Given the description of an element on the screen output the (x, y) to click on. 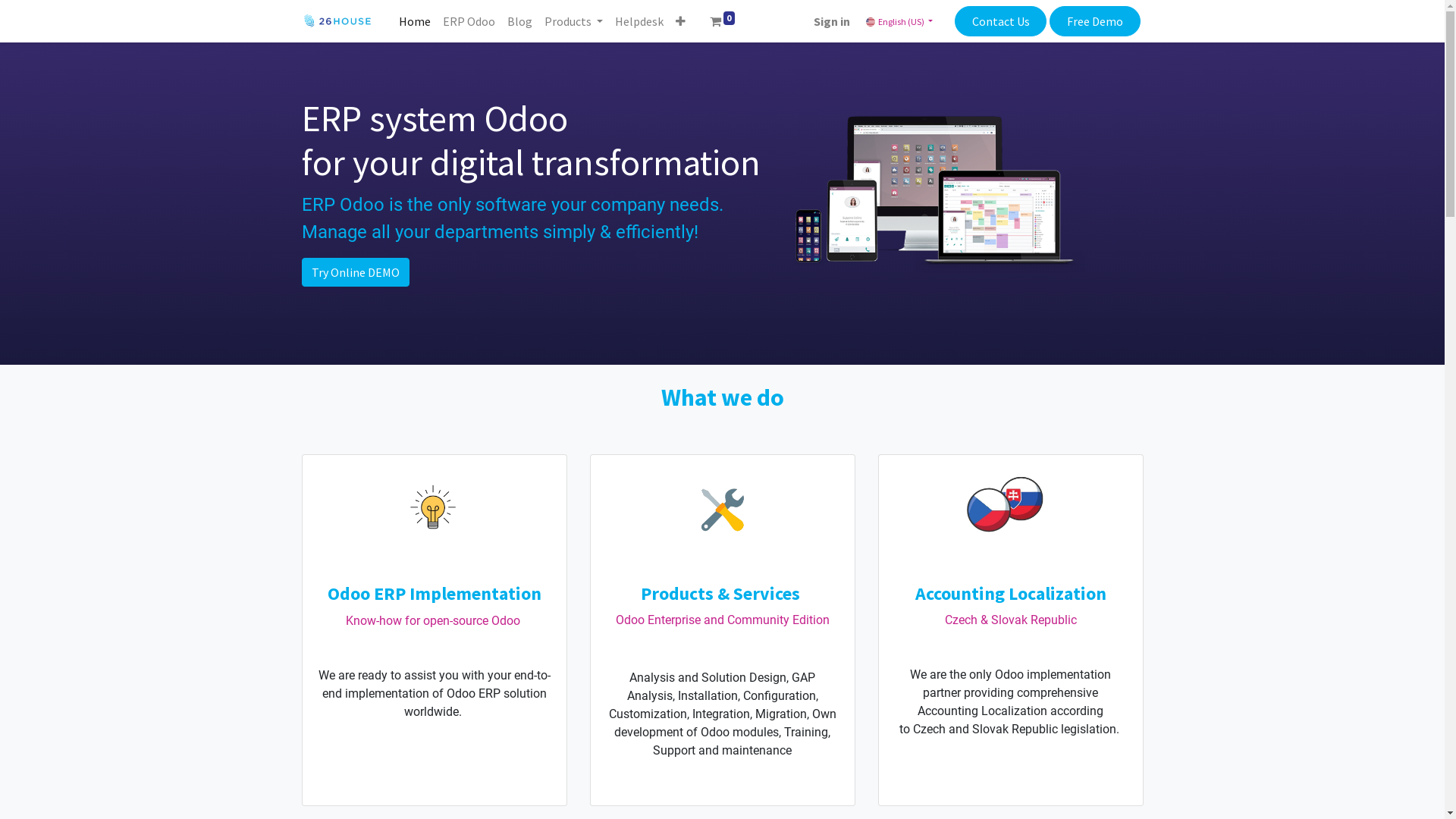
English (US) Element type: text (899, 21)
Blog Element type: text (518, 21)
Free Demo Element type: text (1094, 21)
Products Element type: text (573, 21)
Helpdesk Element type: text (638, 21)
26HOUSE Element type: hover (337, 21)
0 Element type: text (722, 21)
Home Element type: text (414, 21)
Try Online DEMO Element type: text (355, 271)
Sign in Element type: text (831, 21)
ERP Odoo Element type: text (468, 21)
Contact Us Element type: text (1000, 21)
